Given the description of an element on the screen output the (x, y) to click on. 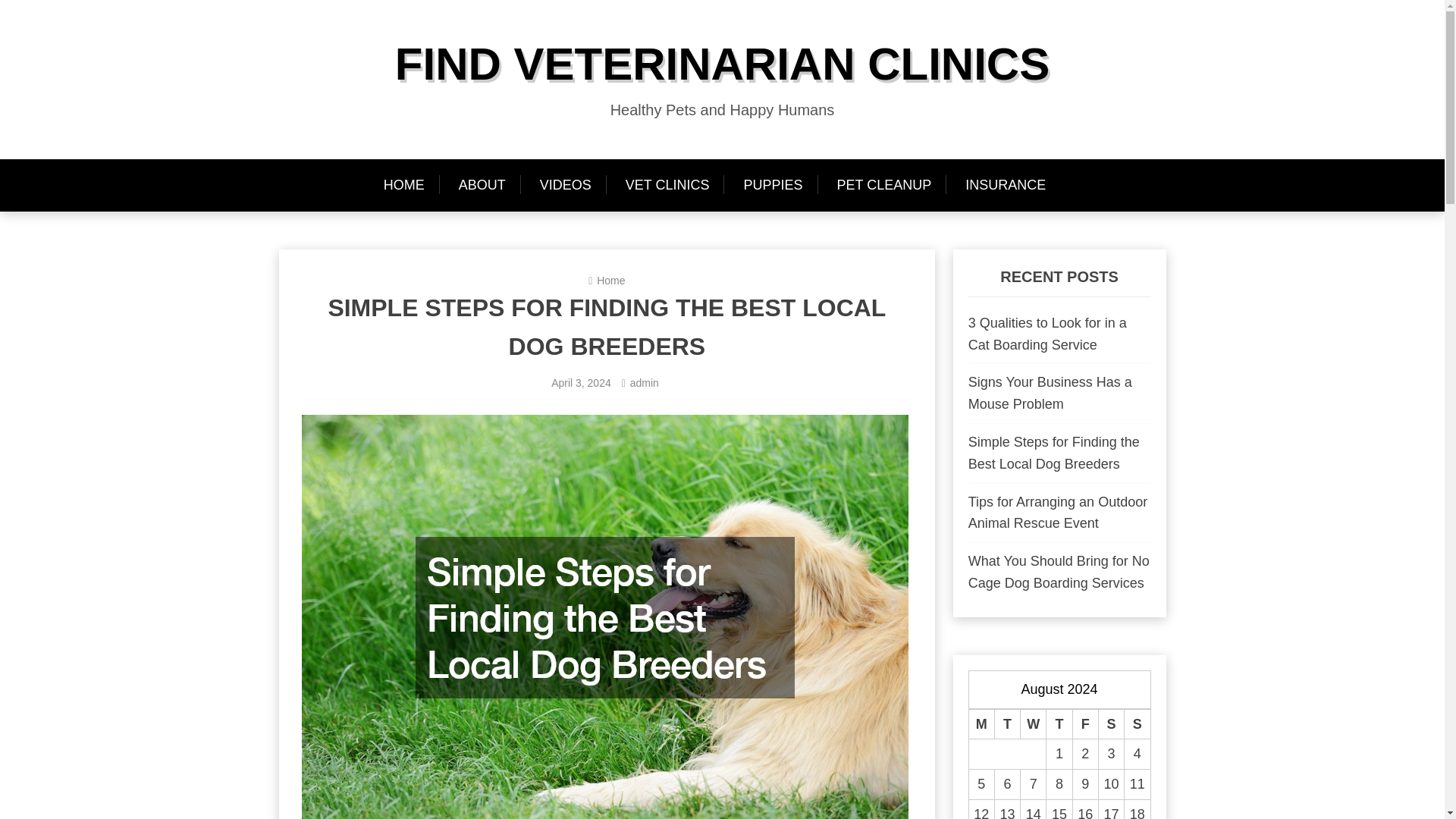
What You Should Bring for No Cage Dog Boarding Services (1059, 571)
Tips for Arranging an Outdoor Animal Rescue Event (1057, 512)
VET CLINICS (667, 184)
FIND VETERINARIAN CLINICS (721, 63)
Simple Steps for Finding the Best Local Dog Breeders (1054, 452)
VIDEOS (565, 184)
PET CLEANUP (884, 184)
PUPPIES (772, 184)
April 3, 2024 (581, 382)
3 Qualities to Look for in a Cat Boarding Service (1047, 333)
INSURANCE (1005, 184)
ABOUT (482, 184)
admin (644, 382)
Signs Your Business Has a Mouse Problem (1050, 392)
Home (610, 280)
